Given the description of an element on the screen output the (x, y) to click on. 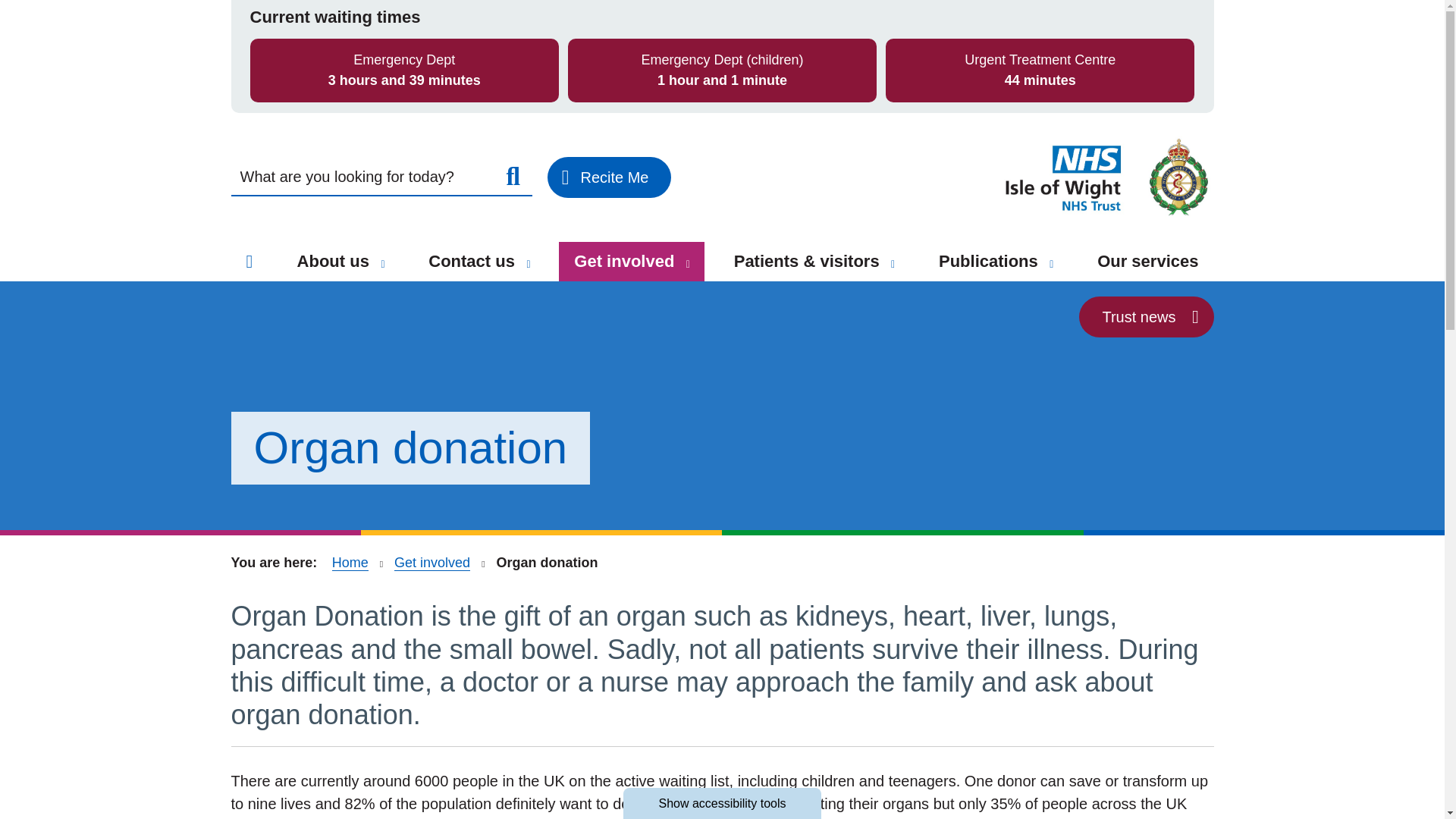
Emergency planning (328, 54)
About us (340, 261)
Trust news (1145, 316)
Expenditure 2024 (570, 13)
Isle of Wight NHS Trust homepage (1106, 177)
Home (248, 261)
About us (382, 264)
Expenditure 2022 (570, 67)
IOW NHS CARE Awards (350, 21)
Recite Me (609, 177)
